Given the description of an element on the screen output the (x, y) to click on. 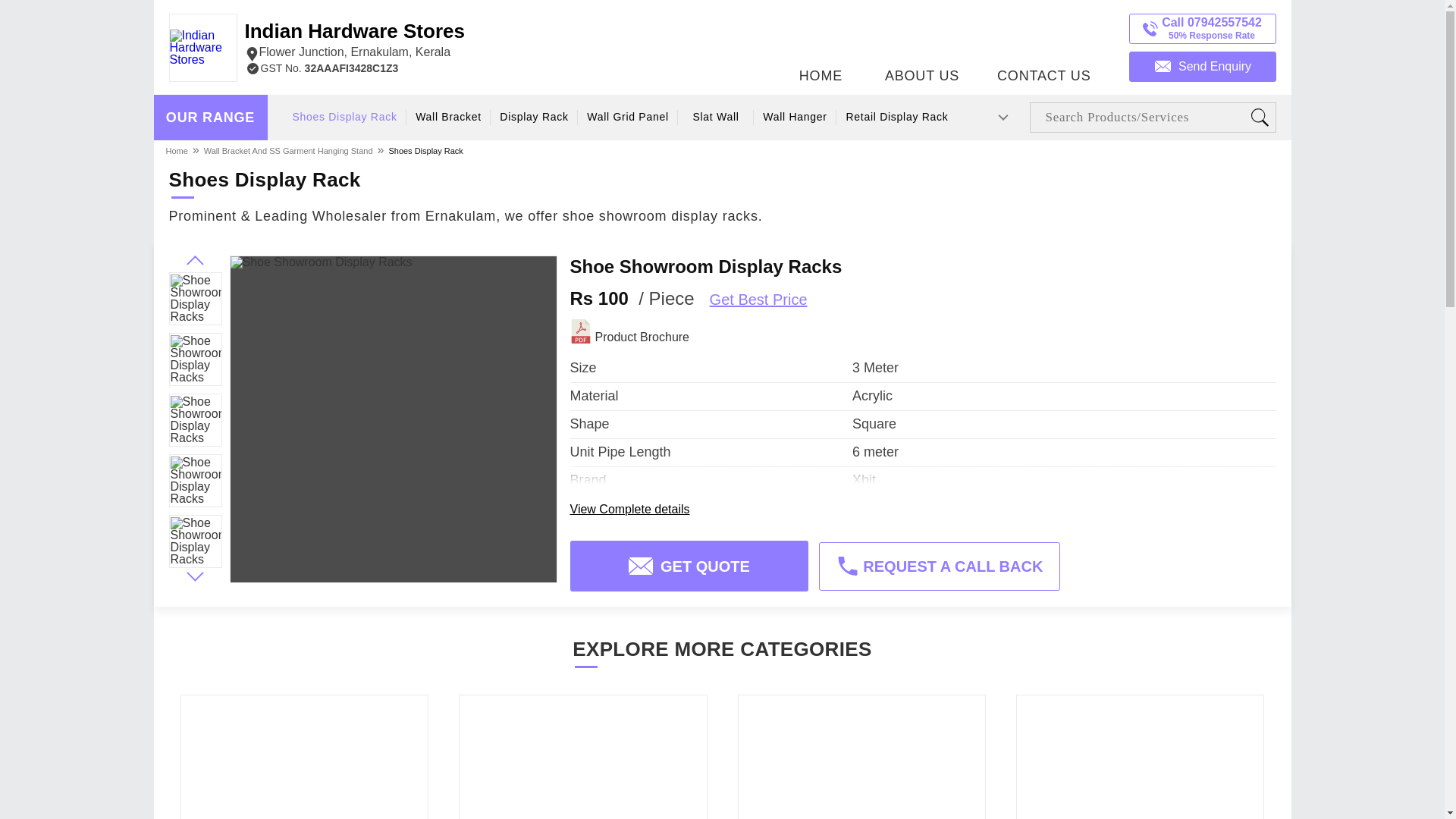
Wall Bracket And SS Garment Hanging Stand (288, 150)
Shoes Display Rack (424, 150)
CONTACT US (1043, 43)
Wall Bracket (354, 41)
Shoes Display Rack (447, 117)
ABOUT US (344, 117)
Wall Grid Panel (921, 43)
OUR RANGE (627, 117)
Display Rack (209, 117)
Retail Display Rack (535, 117)
Slat Wall (897, 117)
Wall Hanger (715, 117)
Home (794, 117)
